Given the description of an element on the screen output the (x, y) to click on. 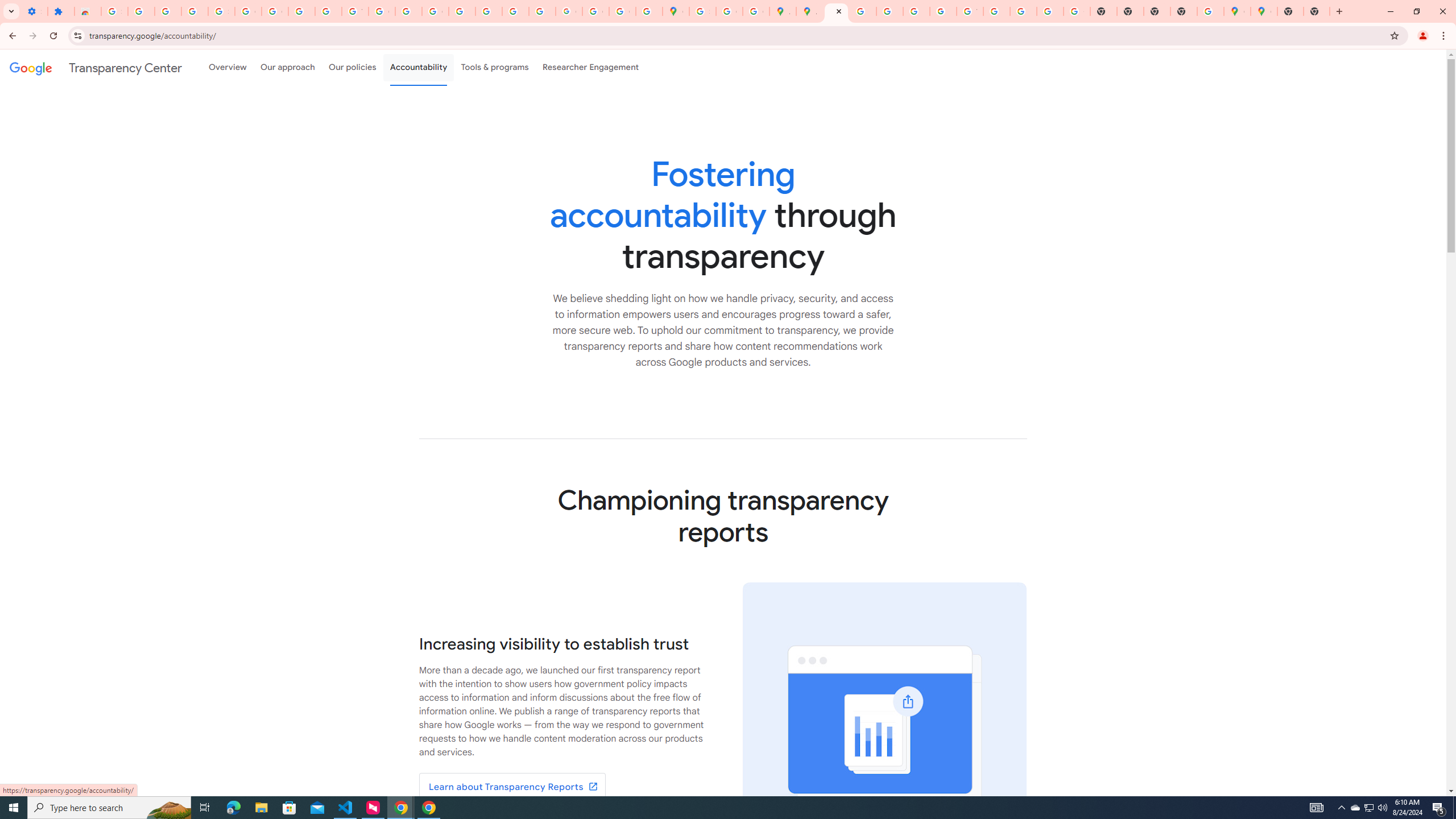
Reviews: Helix Fruit Jump Arcade Game (87, 11)
Sign in - Google Accounts (702, 11)
New Tab (1316, 11)
Researcher Engagement (590, 67)
YouTube (355, 11)
Create your Google Account (729, 11)
Google Account Help (248, 11)
Sign in - Google Accounts (114, 11)
New Tab (1290, 11)
Sign in - Google Accounts (221, 11)
